Given the description of an element on the screen output the (x, y) to click on. 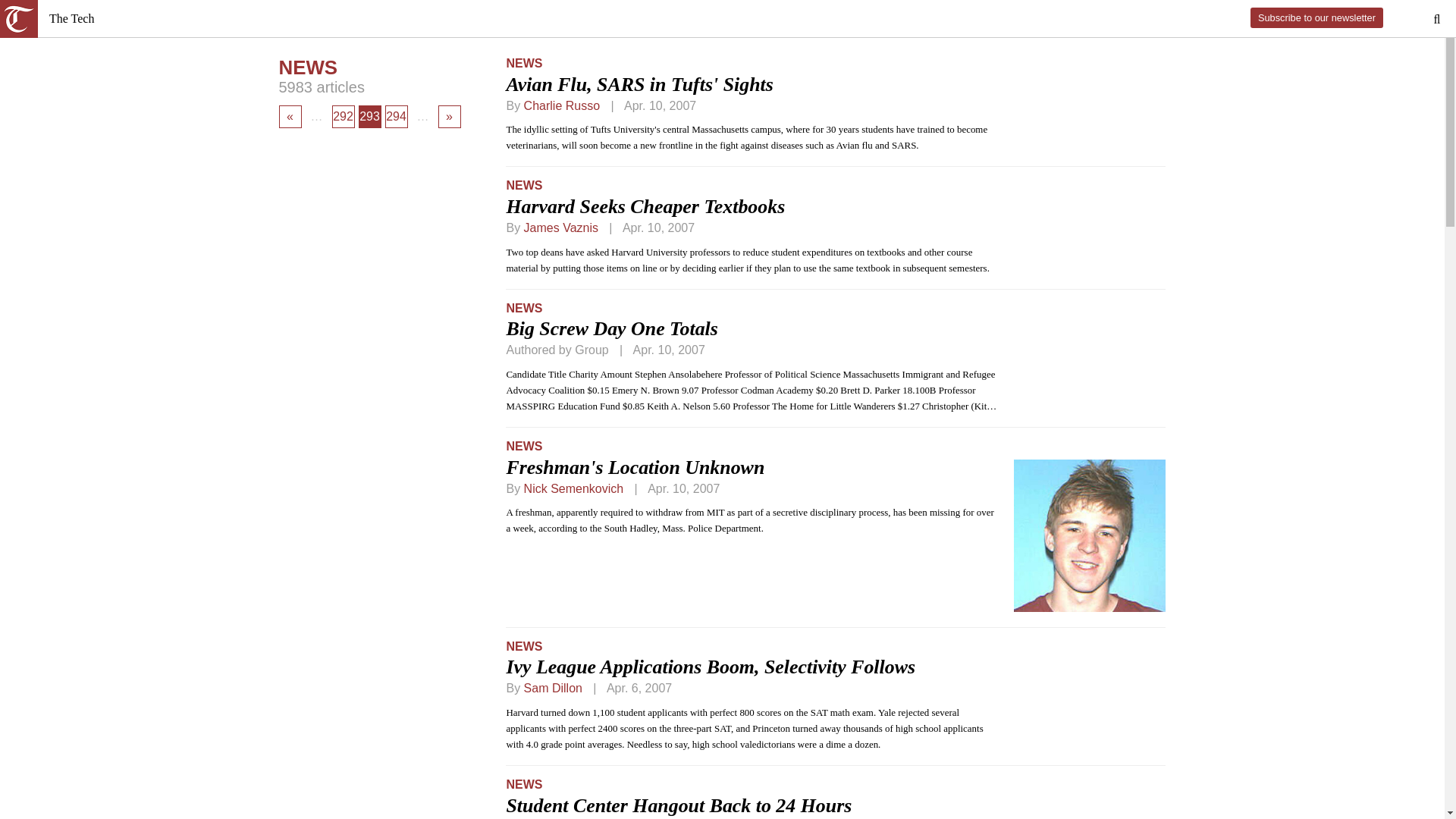
Avian Flu, SARS in Tufts' Sights (639, 84)
NEWS (523, 445)
NEWS (523, 185)
NEWS (523, 308)
James Vaznis (561, 227)
Big Screw Day One Totals (611, 328)
292 (343, 116)
Charlie Russo (561, 105)
Subscribe to our newsletter (1316, 17)
NEWS (523, 62)
